Given the description of an element on the screen output the (x, y) to click on. 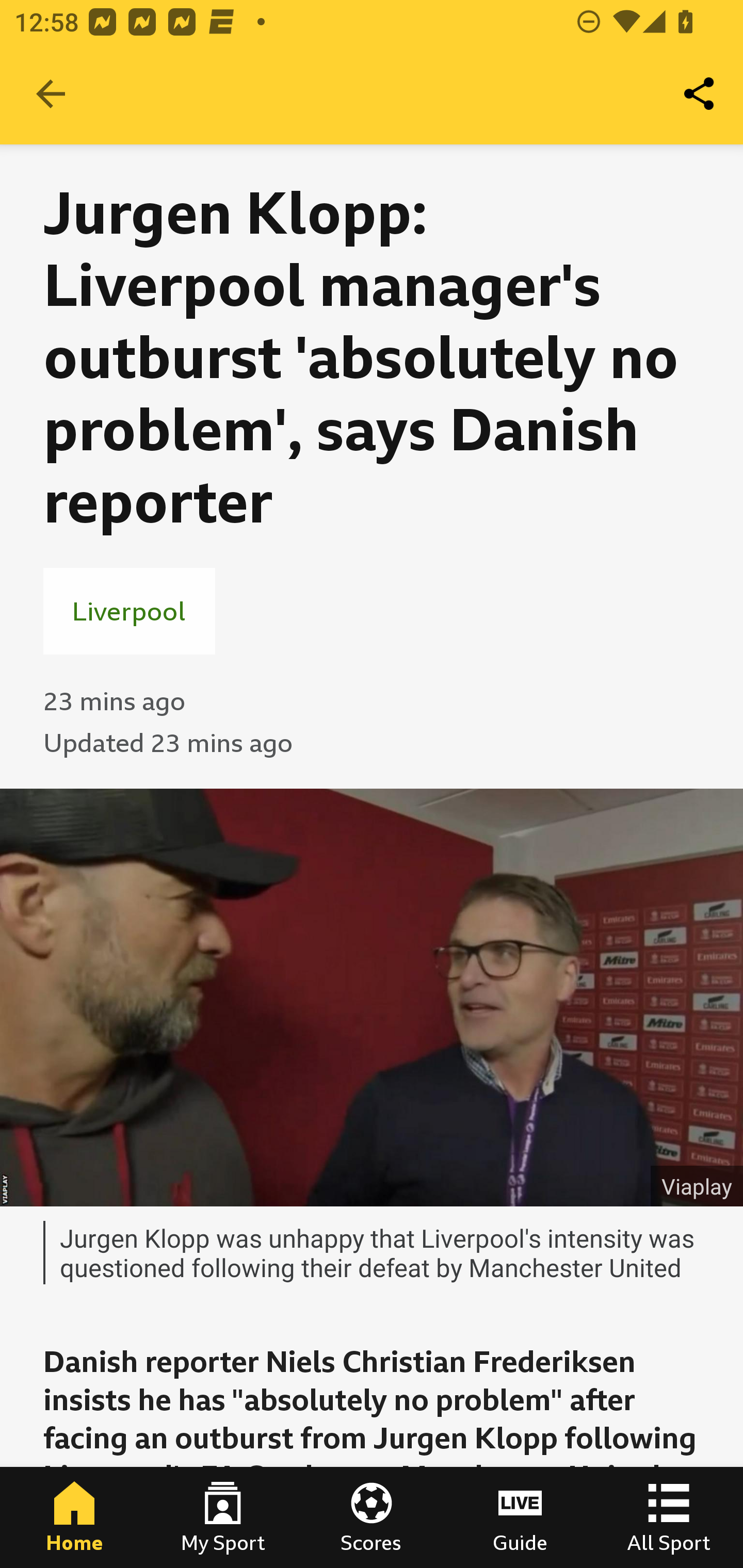
Navigate up (50, 93)
Share (699, 93)
Liverpool (129, 610)
My Sport (222, 1517)
Scores (371, 1517)
Guide (519, 1517)
All Sport (668, 1517)
